Given the description of an element on the screen output the (x, y) to click on. 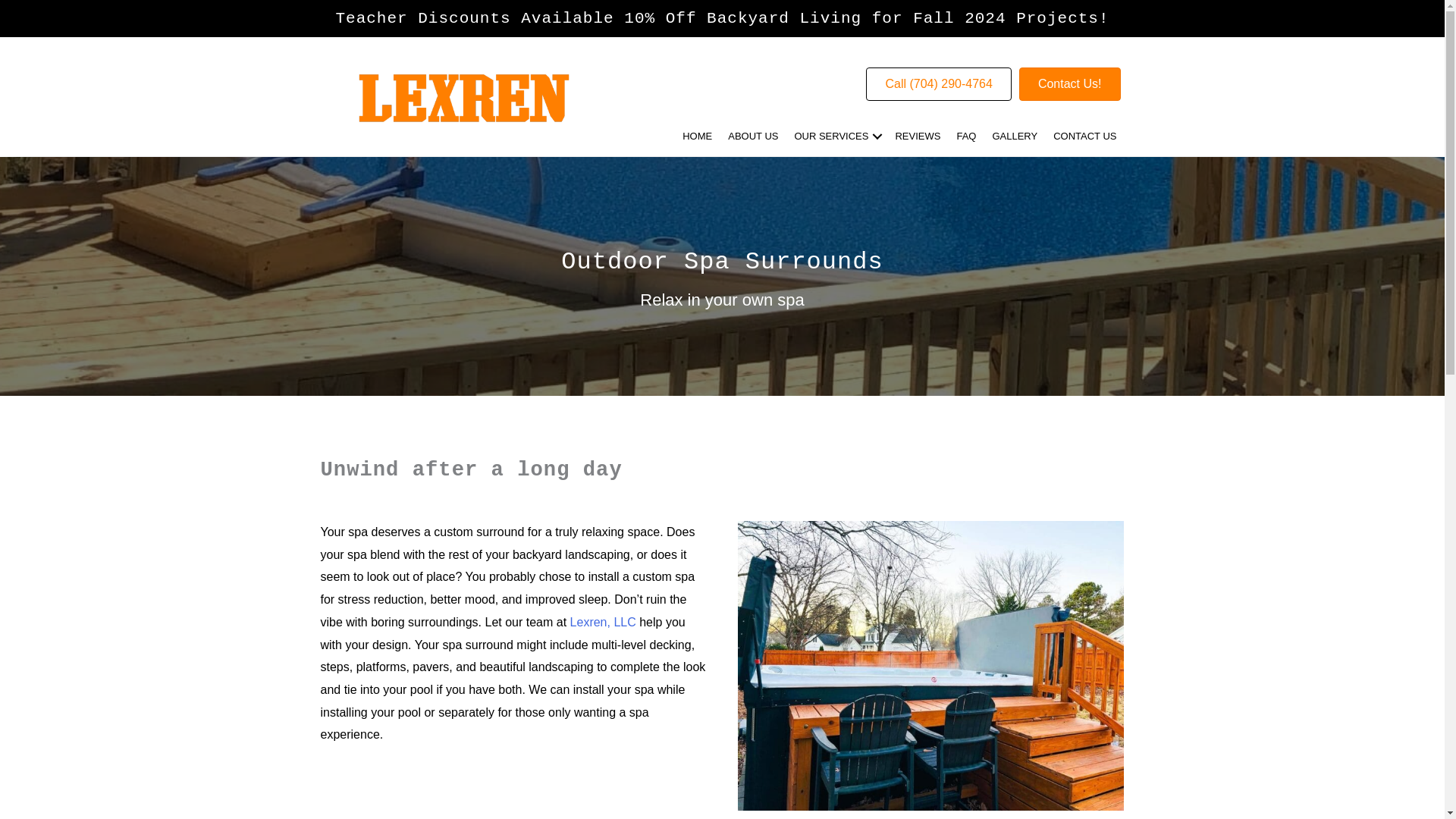
Lexren, LLC (603, 621)
hot tub and wood deck install (931, 665)
LOGO (463, 98)
REVIEWS (916, 136)
HOME (697, 136)
OUR SERVICES (836, 136)
Contact Us! (1070, 83)
GALLERY (1014, 136)
CONTACT US (1084, 136)
ABOUT US (753, 136)
